Given the description of an element on the screen output the (x, y) to click on. 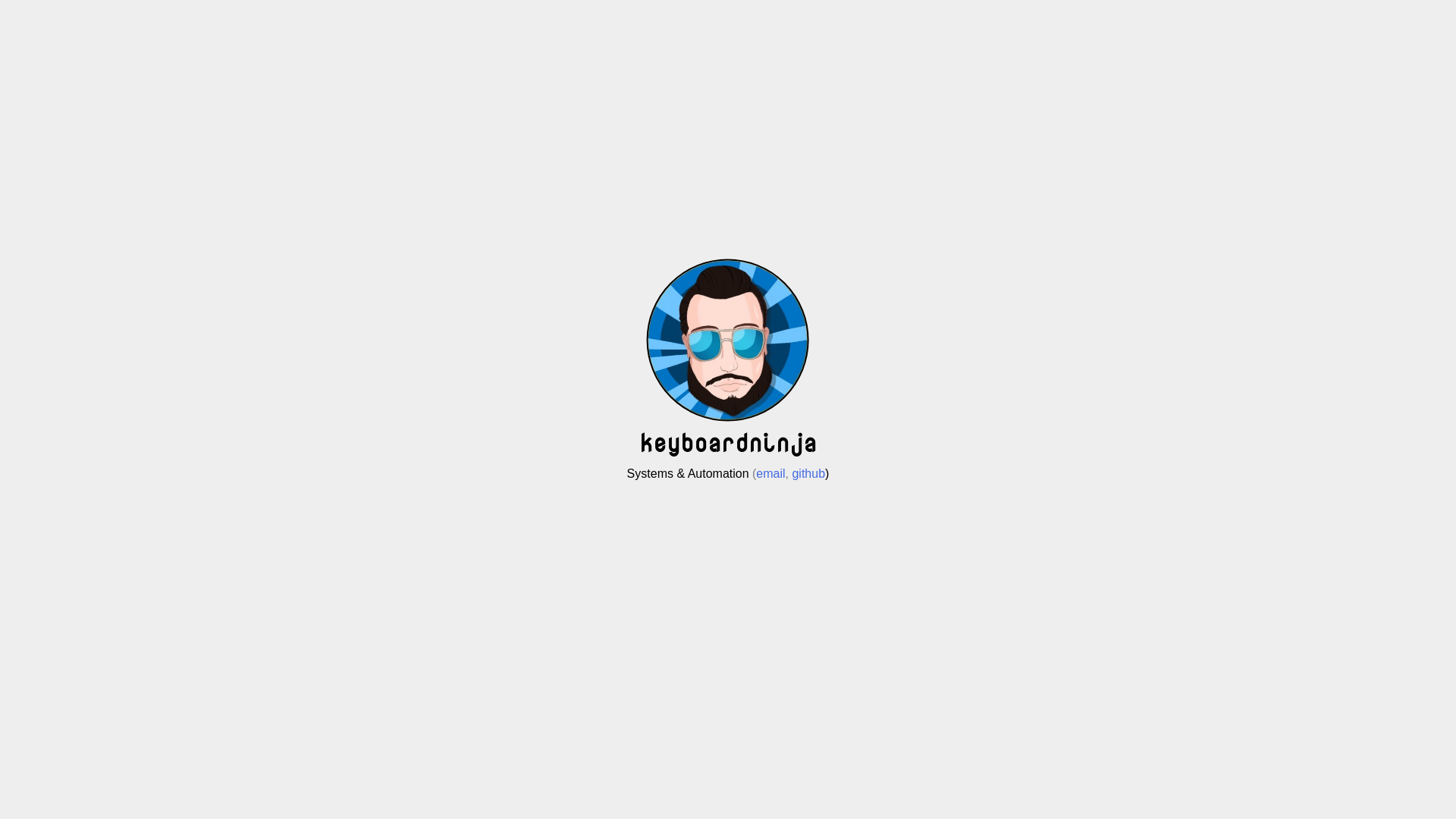
email Element type: text (770, 473)
github Element type: text (808, 473)
